Given the description of an element on the screen output the (x, y) to click on. 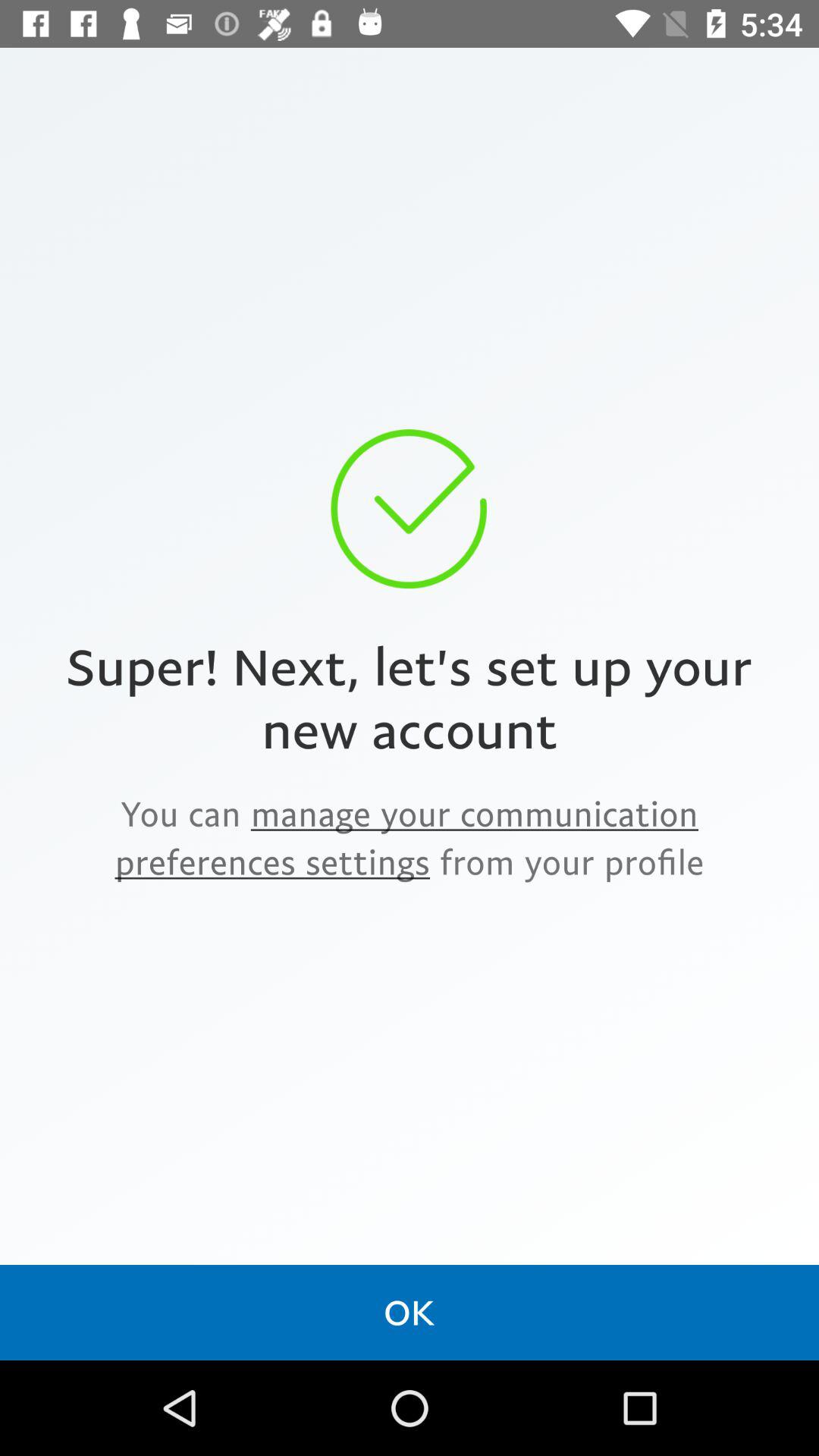
jump until you can manage item (409, 837)
